Given the description of an element on the screen output the (x, y) to click on. 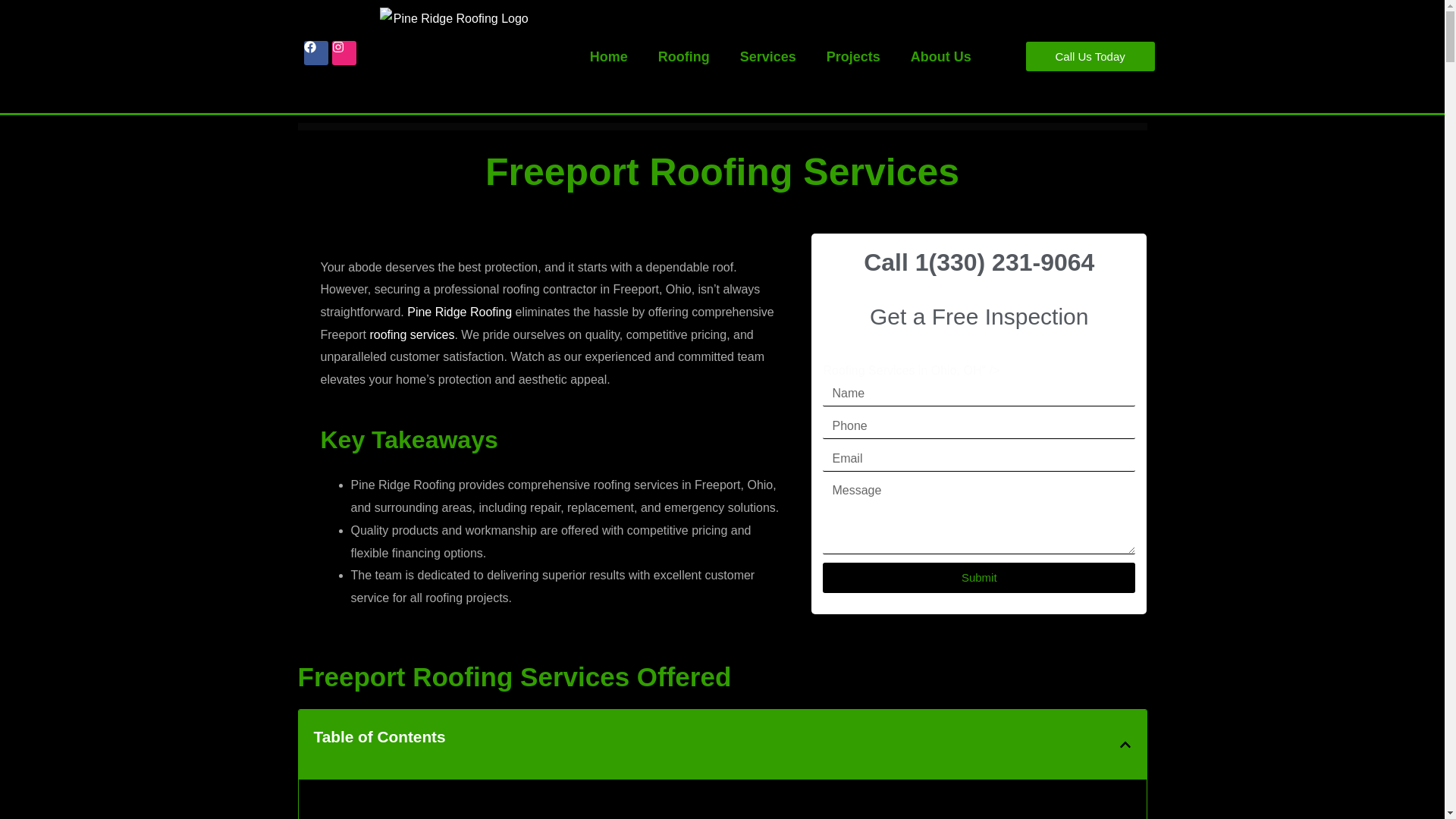
About Us (941, 56)
Pine Ridge Roofing (459, 311)
roofing services (411, 334)
Instagram (343, 52)
Call Us Today (1090, 56)
Home (609, 56)
Projects (852, 56)
Submit (978, 577)
Services (767, 56)
Facebook (316, 52)
Roofing (684, 56)
